Given the description of an element on the screen output the (x, y) to click on. 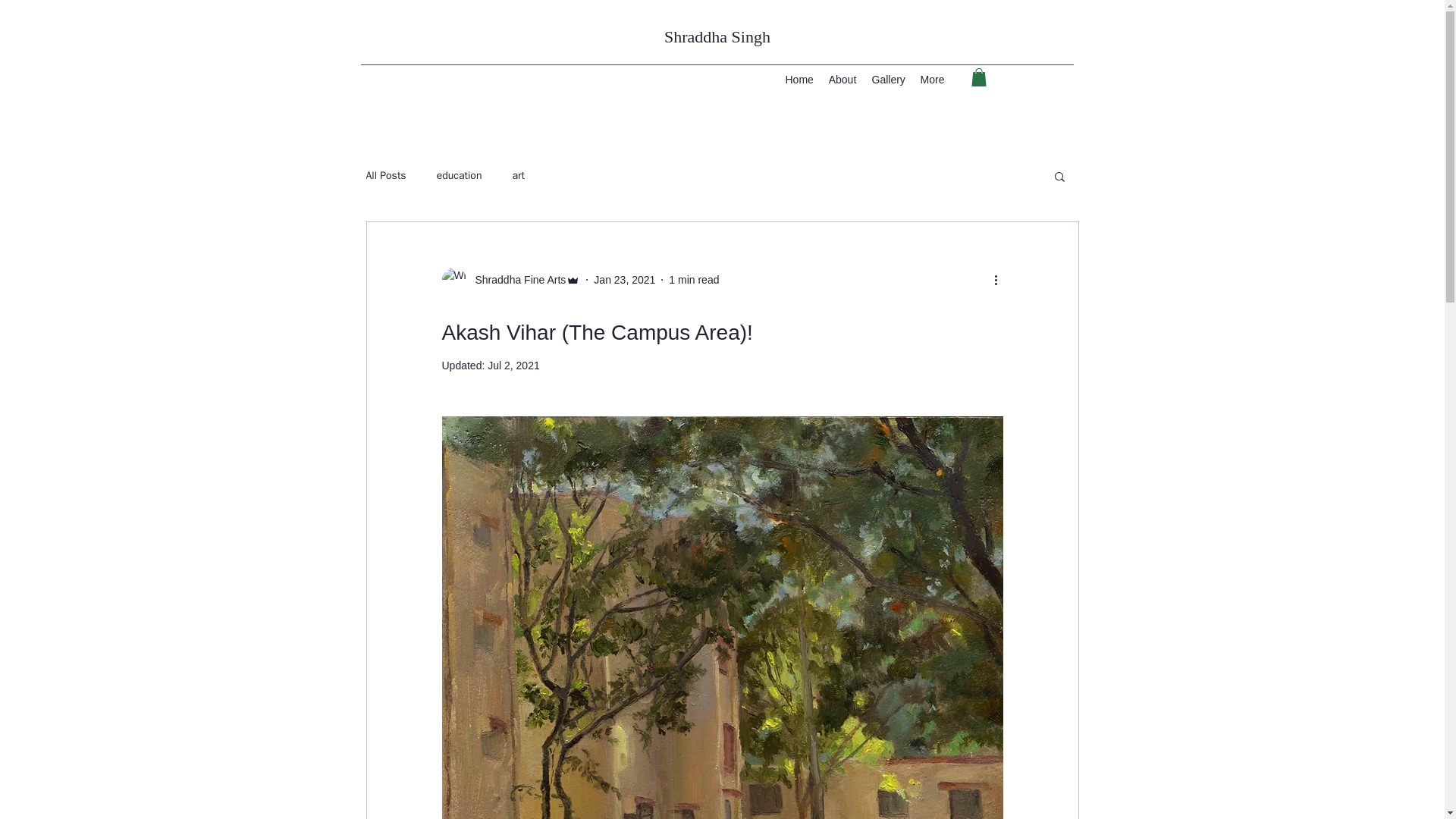
Jul 2, 2021 (513, 365)
Shraddha Singh (716, 36)
About (842, 78)
All Posts (385, 175)
art (518, 175)
Shraddha Fine Arts (510, 279)
1 min read (693, 278)
Home (799, 78)
education (458, 175)
Shraddha Fine Arts (515, 279)
Jan 23, 2021 (624, 278)
Gallery (888, 78)
